Given the description of an element on the screen output the (x, y) to click on. 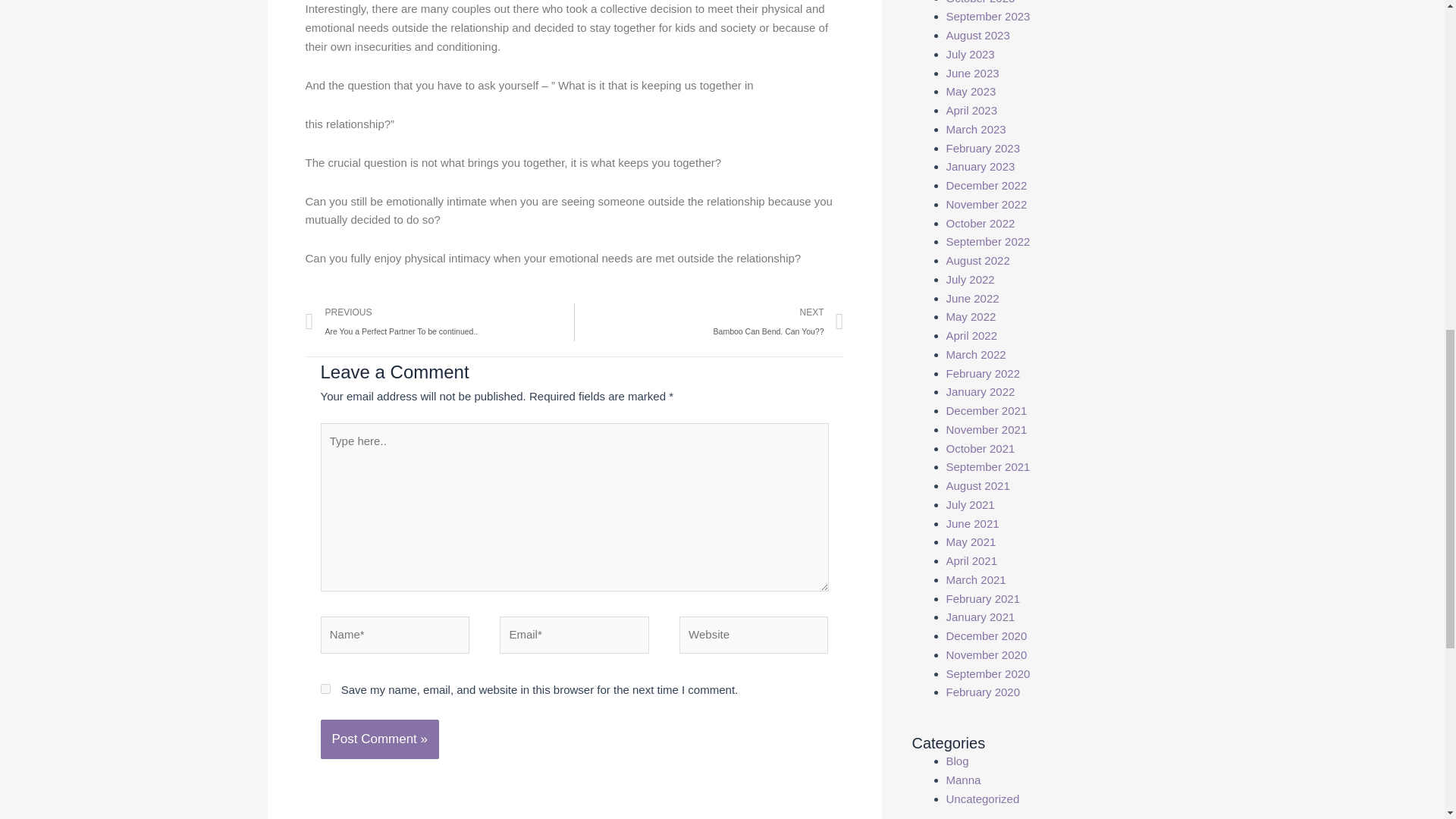
yes (778, 322)
